Given the description of an element on the screen output the (x, y) to click on. 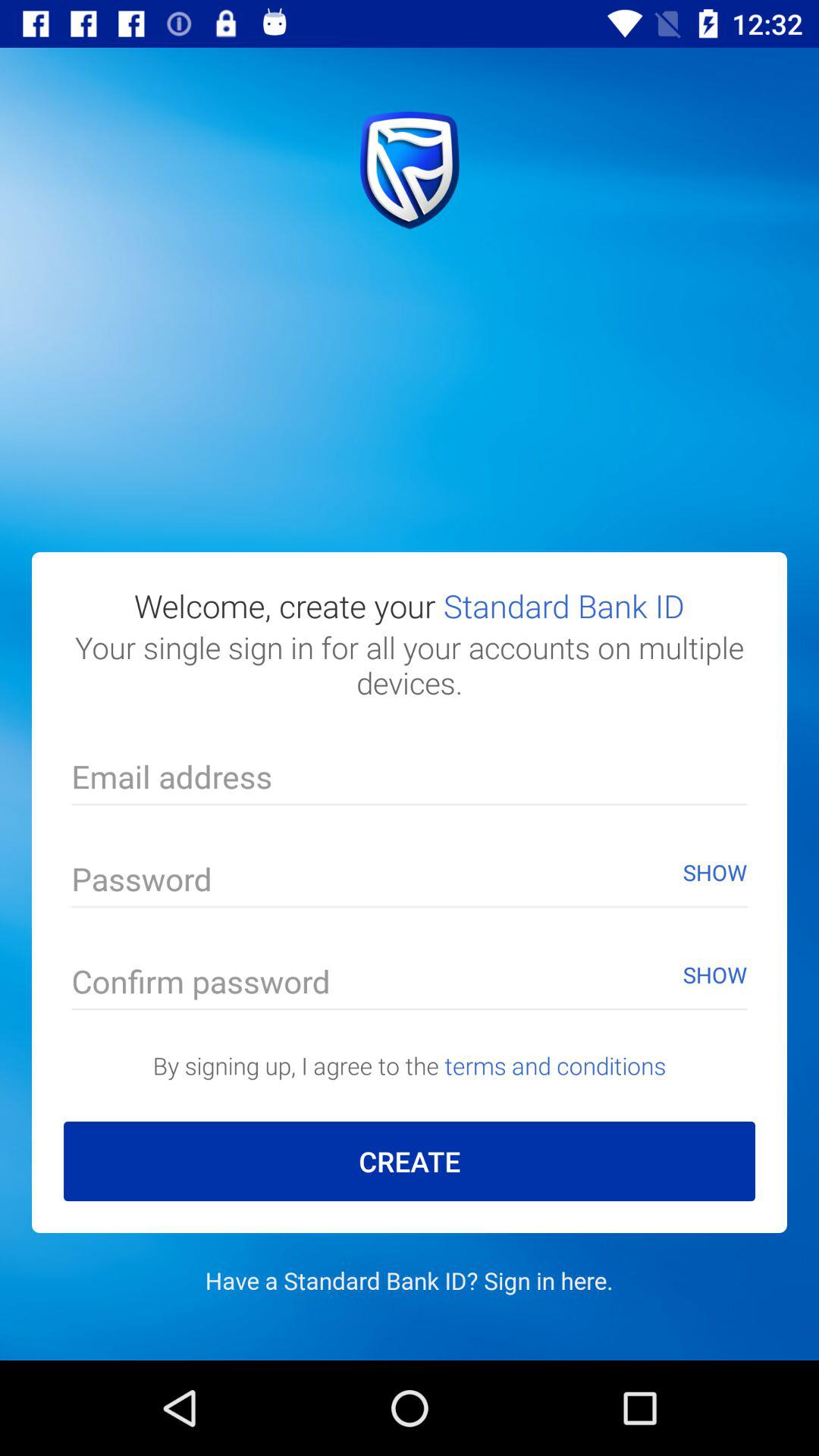
enter email address (409, 780)
